Given the description of an element on the screen output the (x, y) to click on. 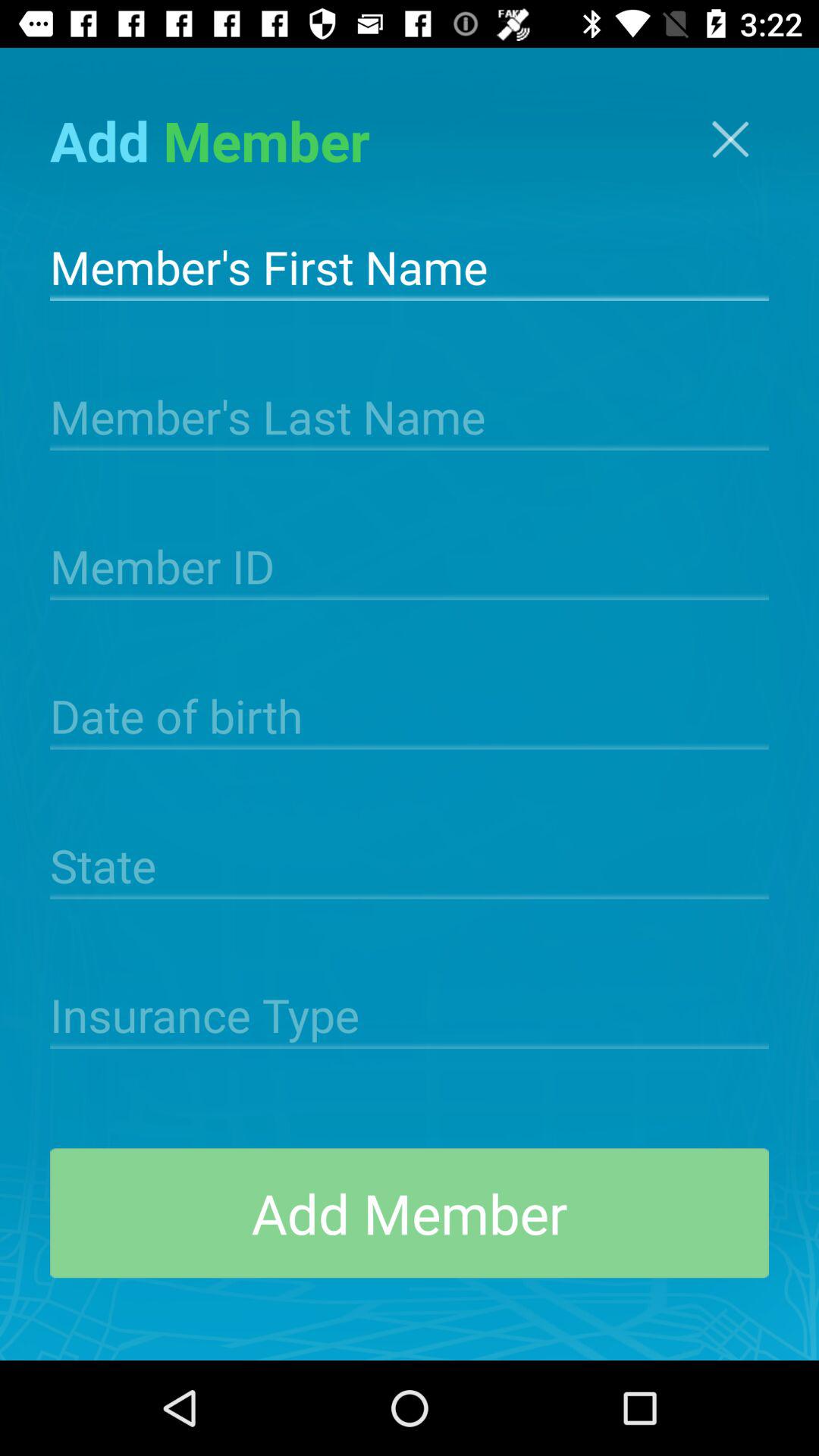
enter member id (409, 565)
